Given the description of an element on the screen output the (x, y) to click on. 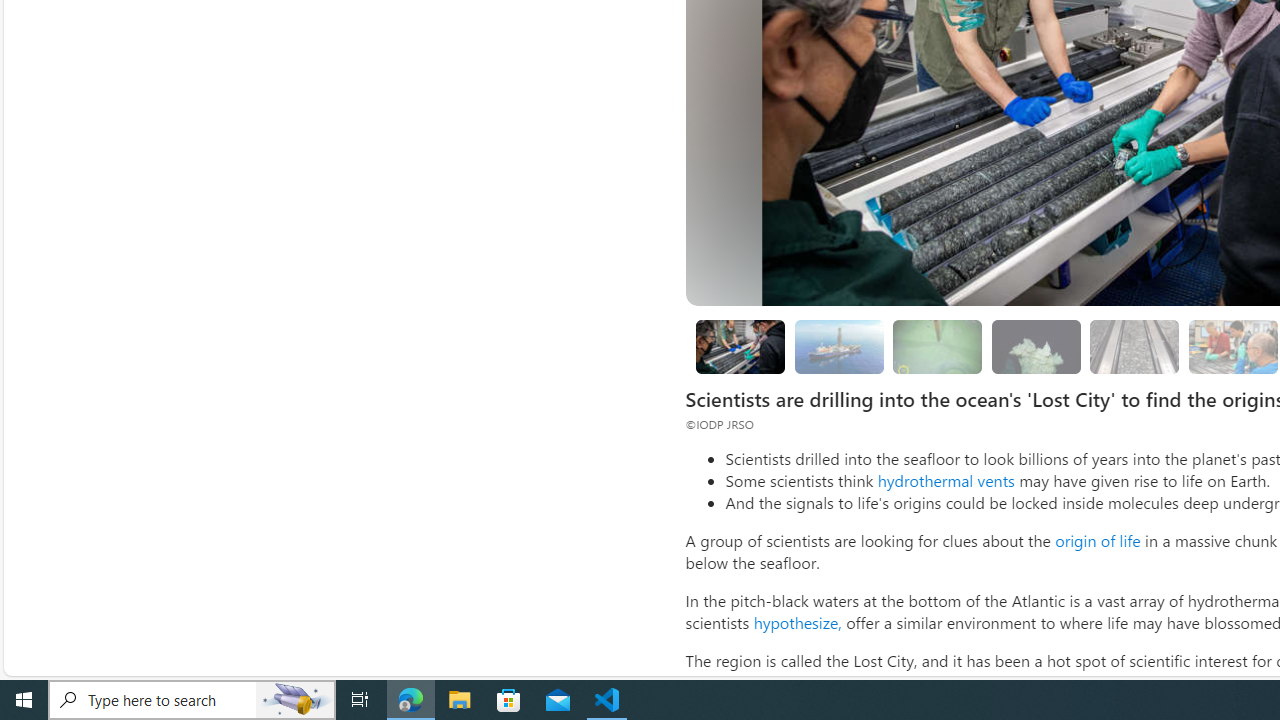
origin of life (1097, 539)
hypothesize, (797, 622)
Class: progress (1134, 343)
The Lost City could hold clues to the origin of life. (1035, 346)
Looking for evidence of oxygen-free life (1232, 346)
The Lost City could hold clues to the origin of life. (1035, 346)
hydrothermal vents (945, 480)
